Given the description of an element on the screen output the (x, y) to click on. 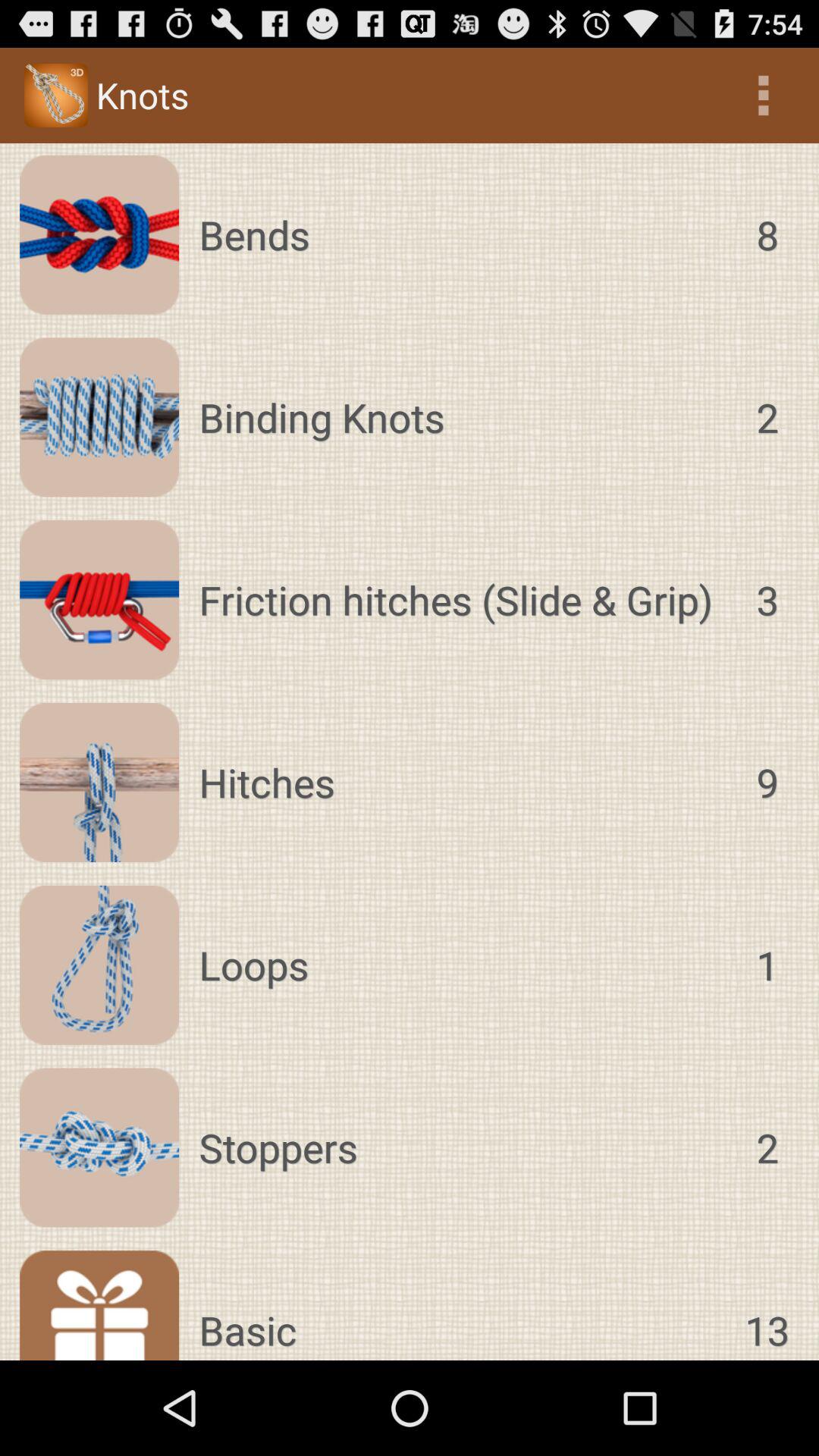
turn on the icon above binding knots item (463, 234)
